Given the description of an element on the screen output the (x, y) to click on. 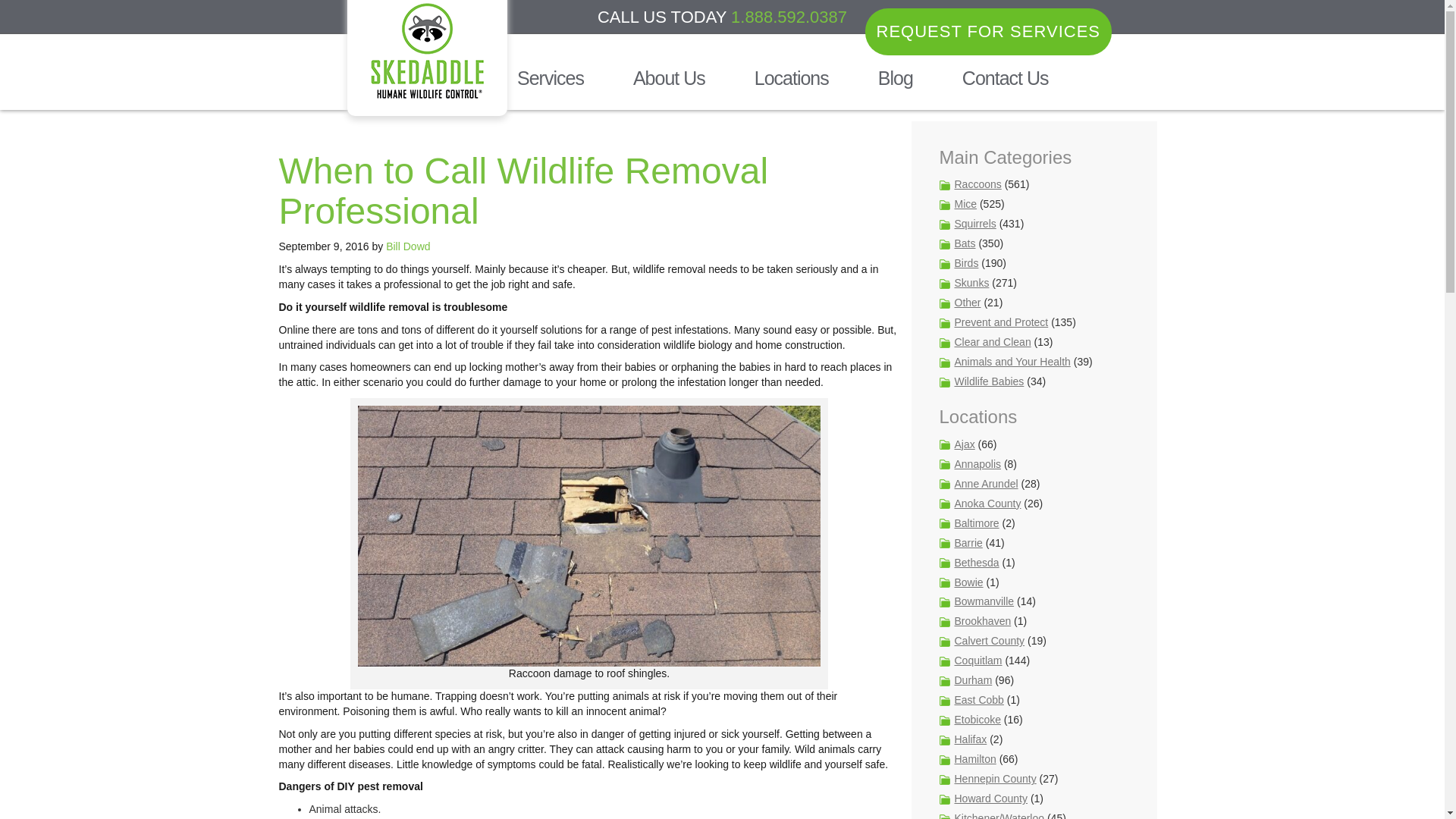
Mice (964, 203)
REQUEST FOR SERVICES (987, 31)
Services (545, 77)
Home (438, 77)
Bats (964, 243)
About Us (663, 77)
Birds (965, 263)
Squirrels (974, 223)
Raccoons (977, 184)
1.888.592.0387 (788, 16)
